Given the description of an element on the screen output the (x, y) to click on. 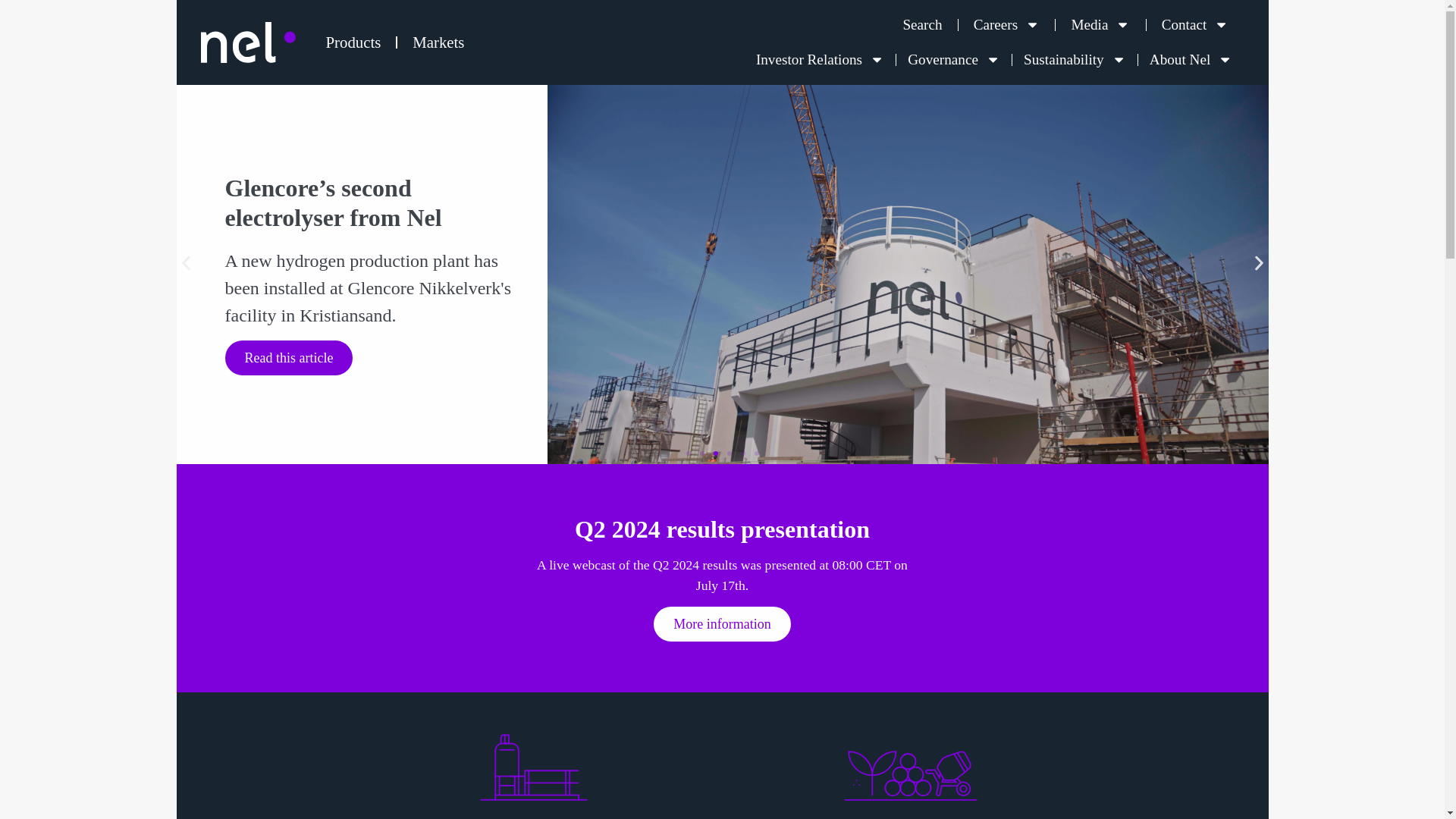
Products (353, 42)
Markets (438, 42)
Careers (1006, 24)
Search (921, 24)
Search (921, 24)
Products (353, 42)
